Given the description of an element on the screen output the (x, y) to click on. 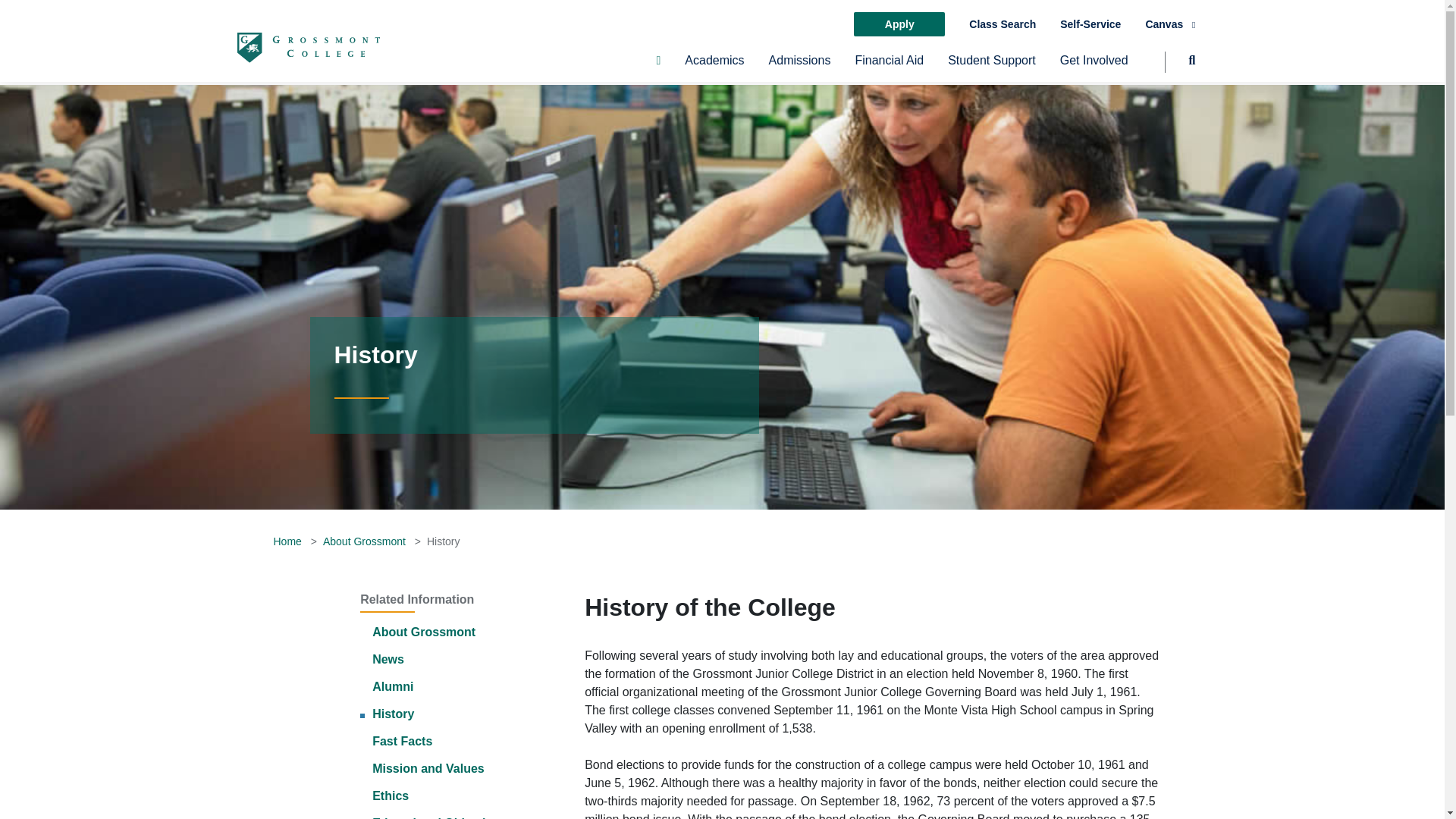
History (392, 713)
Self-Service (1090, 23)
About Grossmont (424, 631)
Mission and Values (428, 768)
Financial Aid (888, 66)
Class Search (1002, 23)
Educational Objective (435, 817)
Admissions (799, 66)
Alumni (392, 686)
Self-Service (1090, 23)
Canvas (1169, 23)
Student Support (991, 66)
Search Button (1179, 66)
Fast Facts (402, 740)
Home (287, 541)
